Given the description of an element on the screen output the (x, y) to click on. 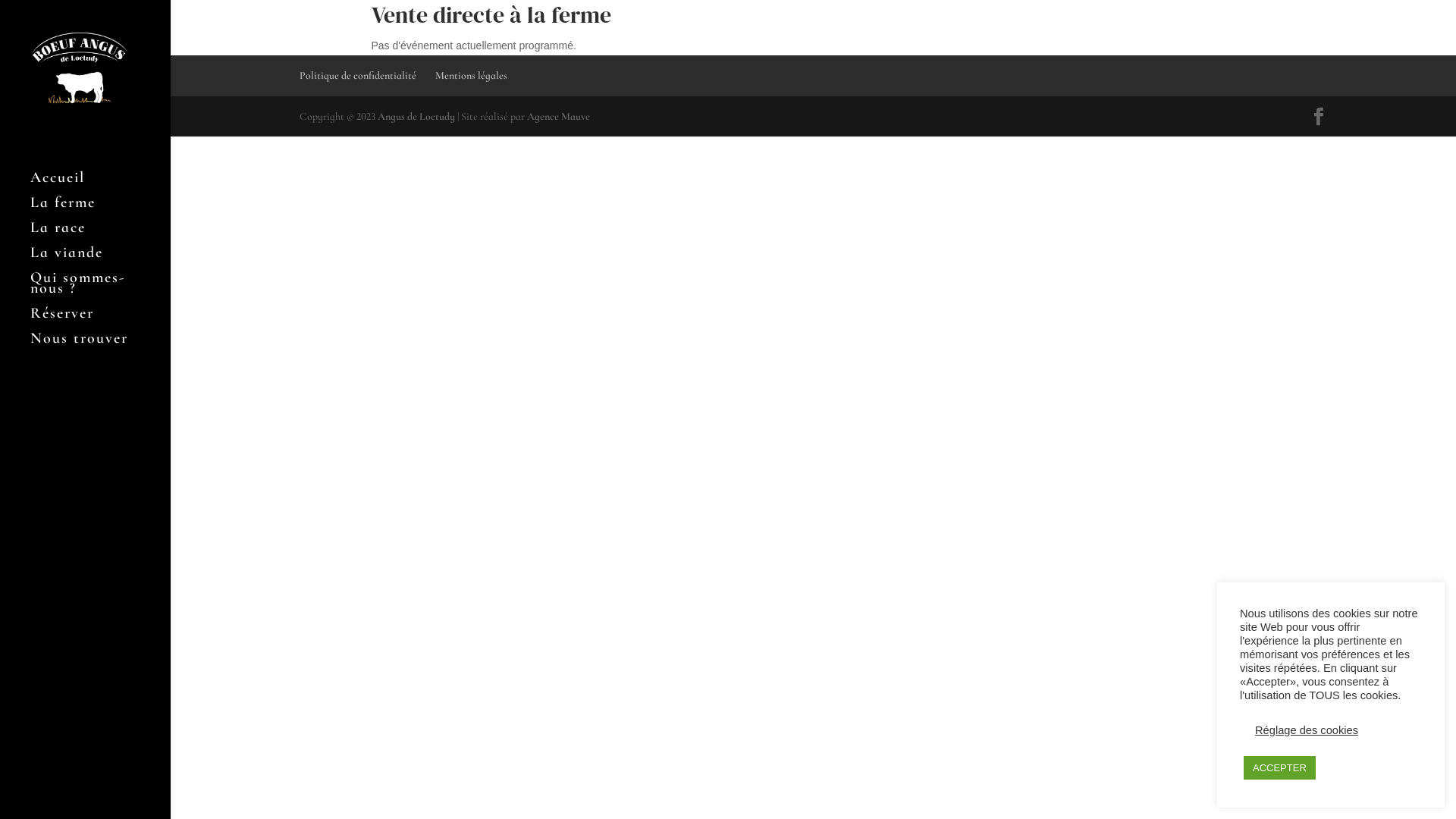
La ferme Element type: text (100, 209)
La race Element type: text (100, 234)
Agence Mauve Element type: text (557, 115)
La viande Element type: text (100, 259)
Angus de Loctudy Element type: text (416, 115)
Nous trouver Element type: text (100, 344)
Accueil Element type: text (100, 184)
ACCEPTER Element type: text (1279, 767)
Qui sommes-nous ? Element type: text (100, 289)
